Given the description of an element on the screen output the (x, y) to click on. 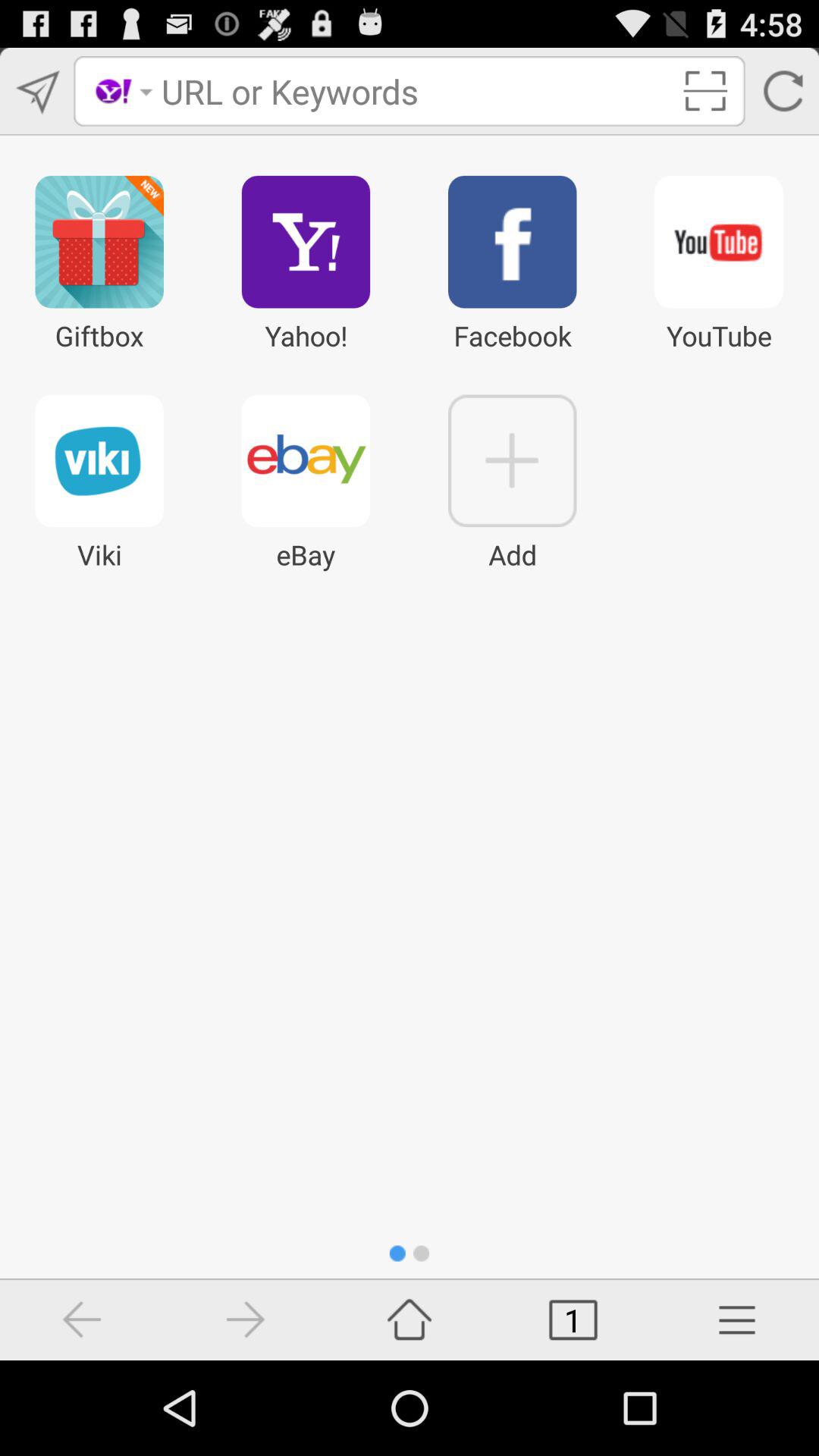
type in search (415, 91)
